Given the description of an element on the screen output the (x, y) to click on. 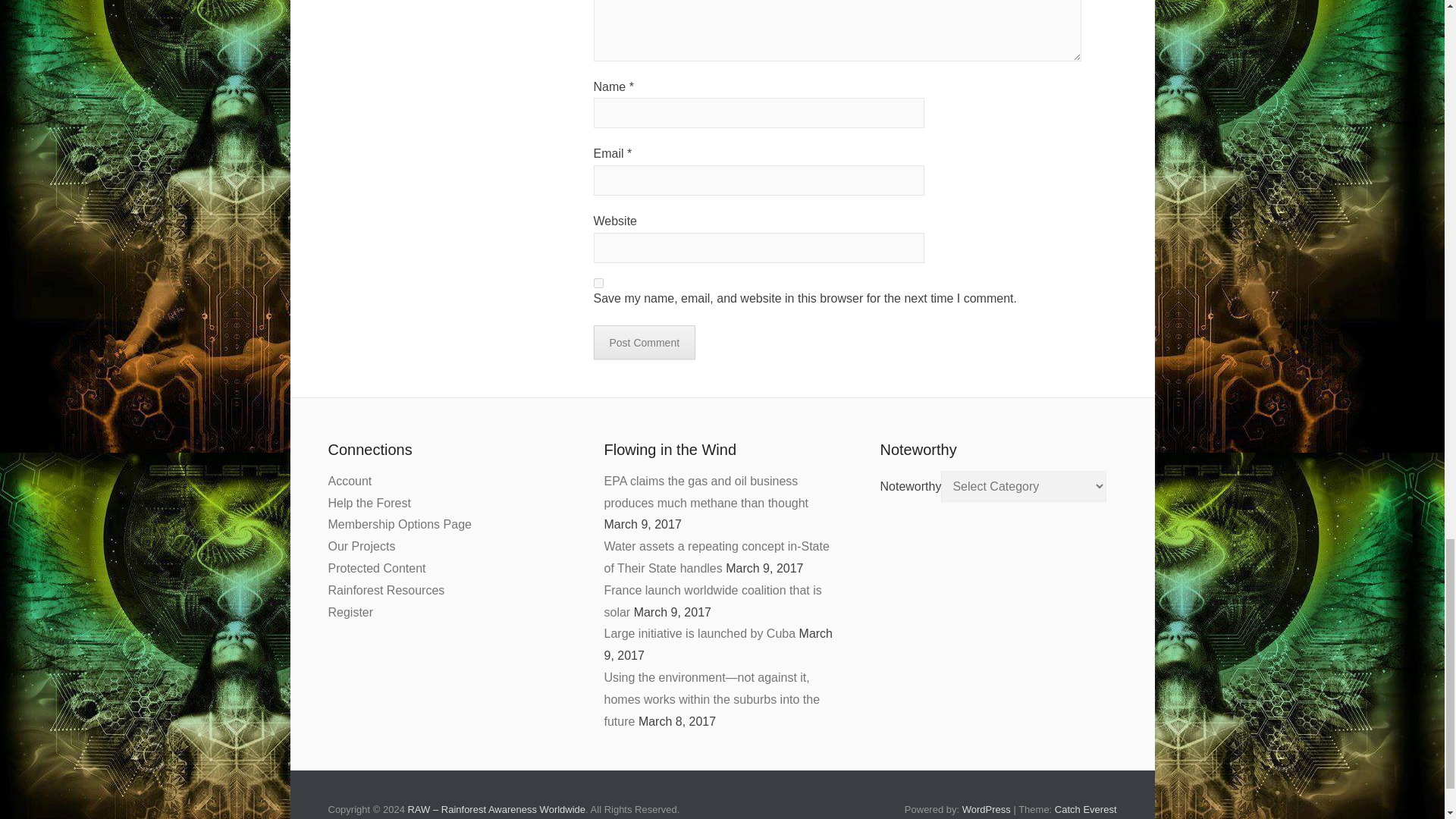
Catch Everest (1085, 808)
Post Comment (643, 342)
Post Comment (643, 342)
yes (597, 283)
WordPress (986, 808)
